Given the description of an element on the screen output the (x, y) to click on. 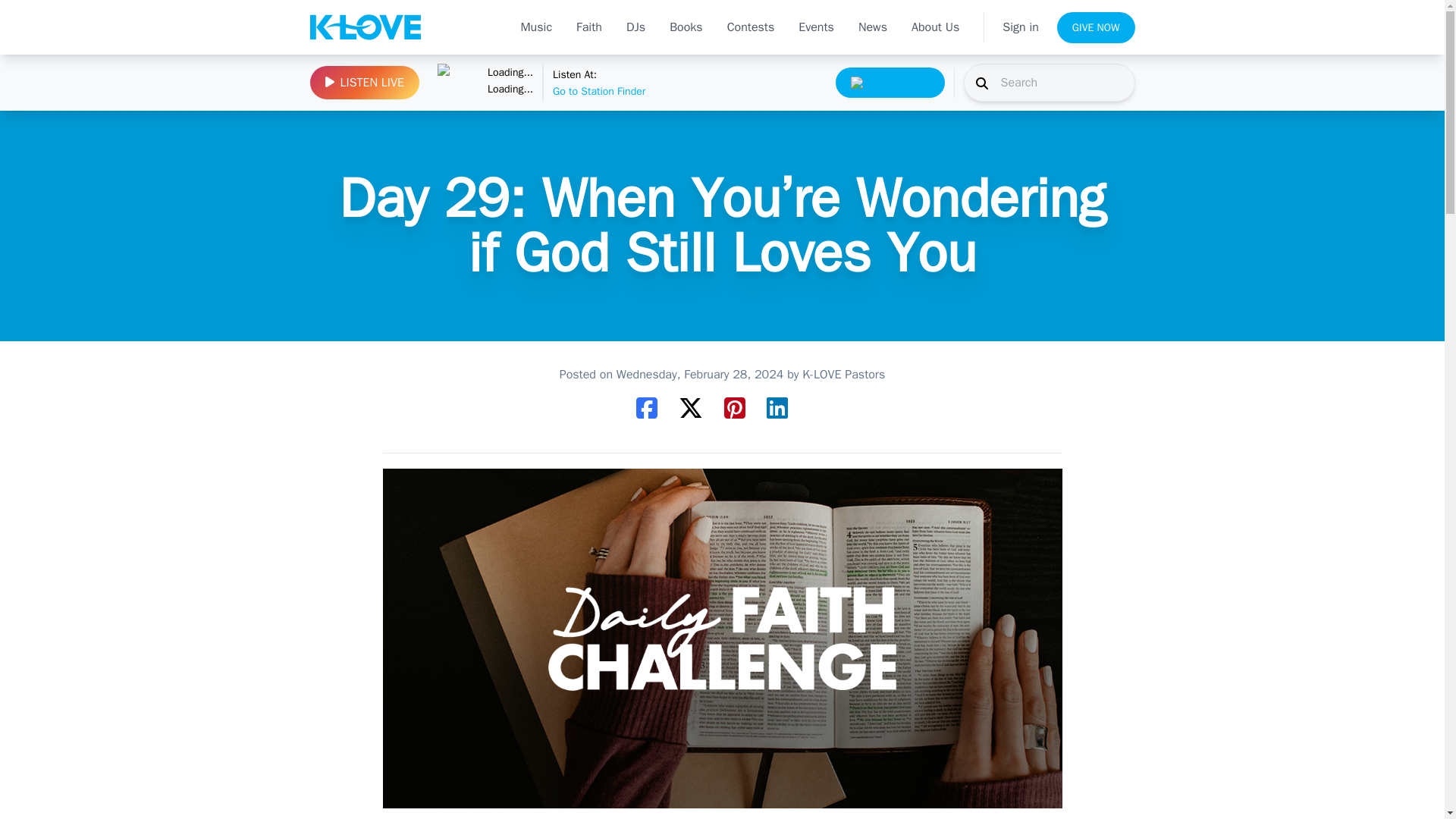
GIVE NOW (1096, 27)
Sign in (1021, 27)
News (872, 27)
Books (686, 26)
Events (815, 27)
Music (536, 27)
LISTEN LIVE (363, 82)
About Us (935, 27)
Contests (509, 82)
DJs (750, 27)
Faith (636, 27)
Current Song (589, 27)
Go to Station Finder (457, 82)
